Given the description of an element on the screen output the (x, y) to click on. 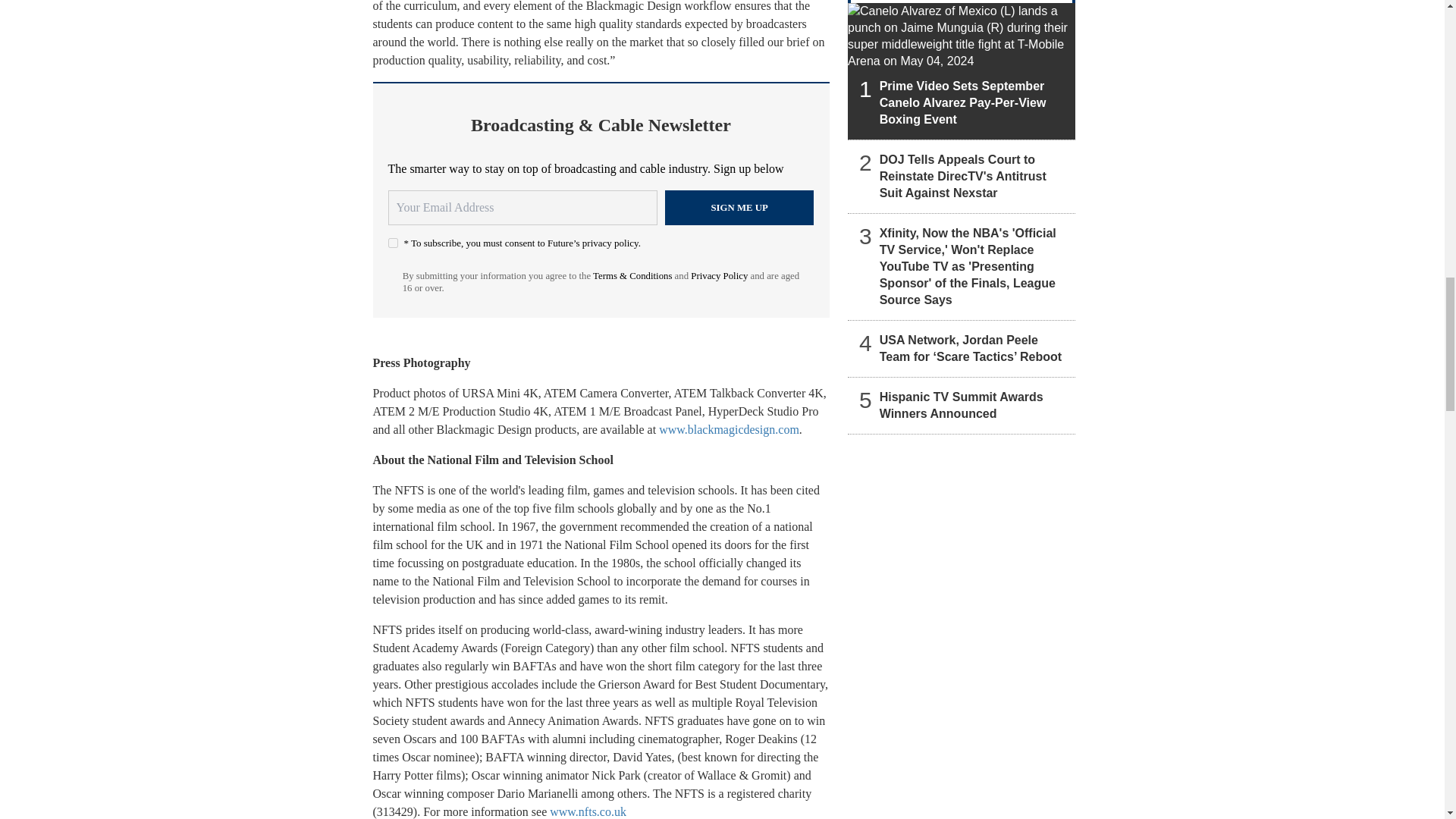
Sign me up (739, 207)
Privacy Policy (719, 276)
Sign me up (739, 207)
on (392, 243)
